Given the description of an element on the screen output the (x, y) to click on. 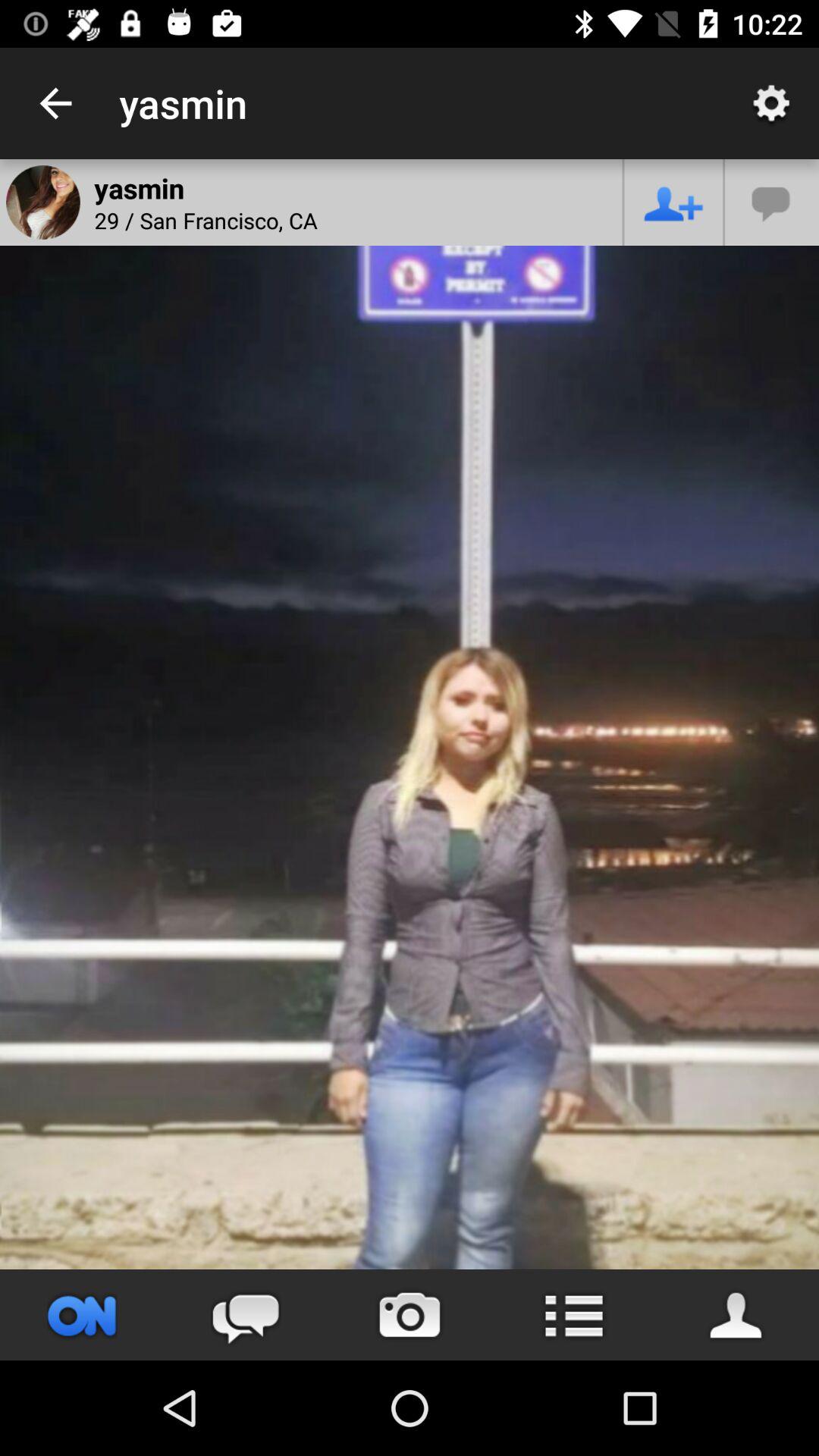
list view button (573, 1315)
